Given the description of an element on the screen output the (x, y) to click on. 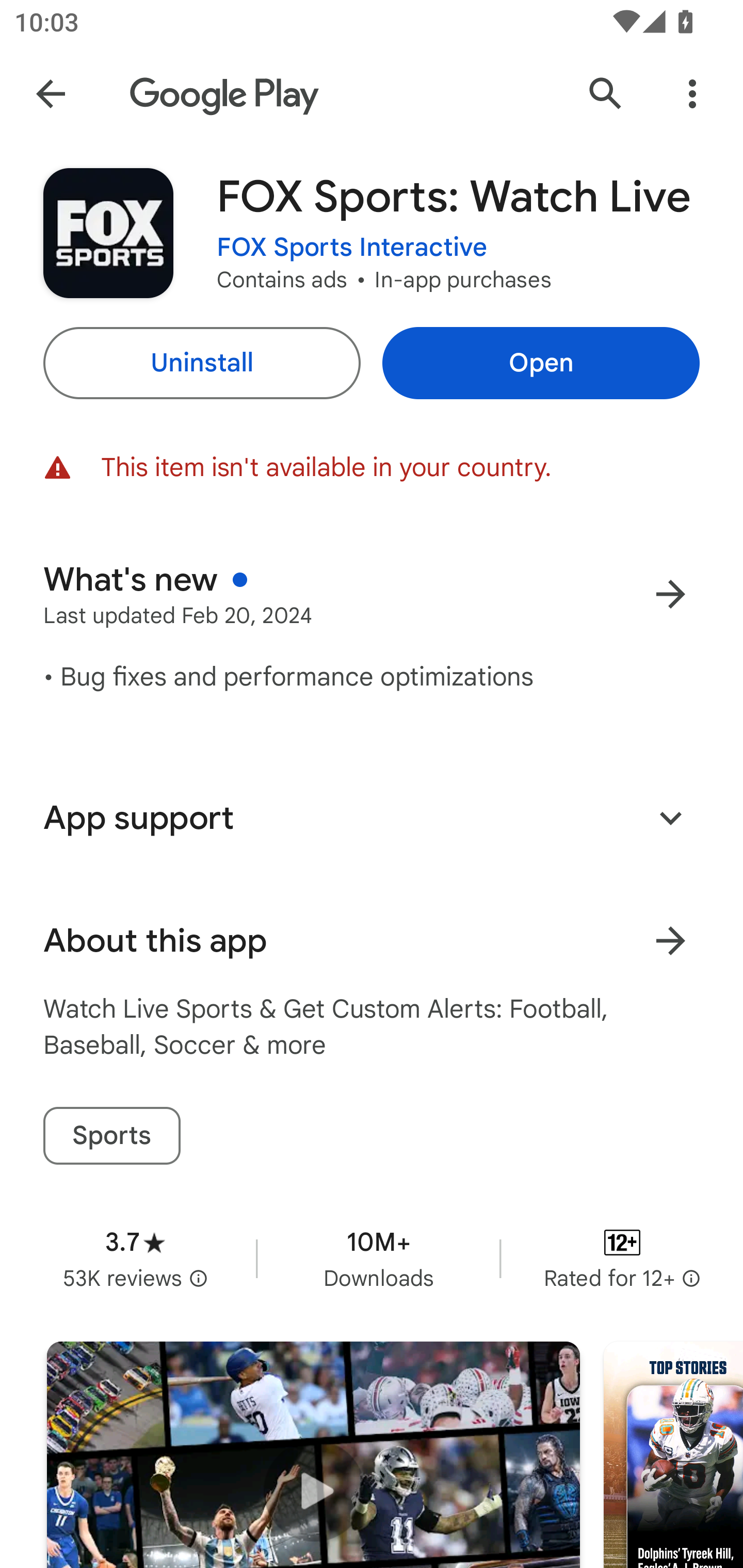
Navigate up (50, 93)
Search Google Play (605, 93)
More Options (692, 93)
FOX Sports Interactive (351, 247)
Uninstall (201, 362)
Open (540, 362)
More results for What's new (670, 594)
App support Expand (371, 817)
Expand (670, 817)
About this app Learn more About this app (371, 940)
Learn more About this app (670, 940)
Sports tag (111, 1135)
Average rating 3.7 stars in 53 thousand reviews (135, 1258)
Content rating Rated for 12+ (622, 1258)
Play trailer for "FOX Sports: Watch Live" (313, 1455)
